Given the description of an element on the screen output the (x, y) to click on. 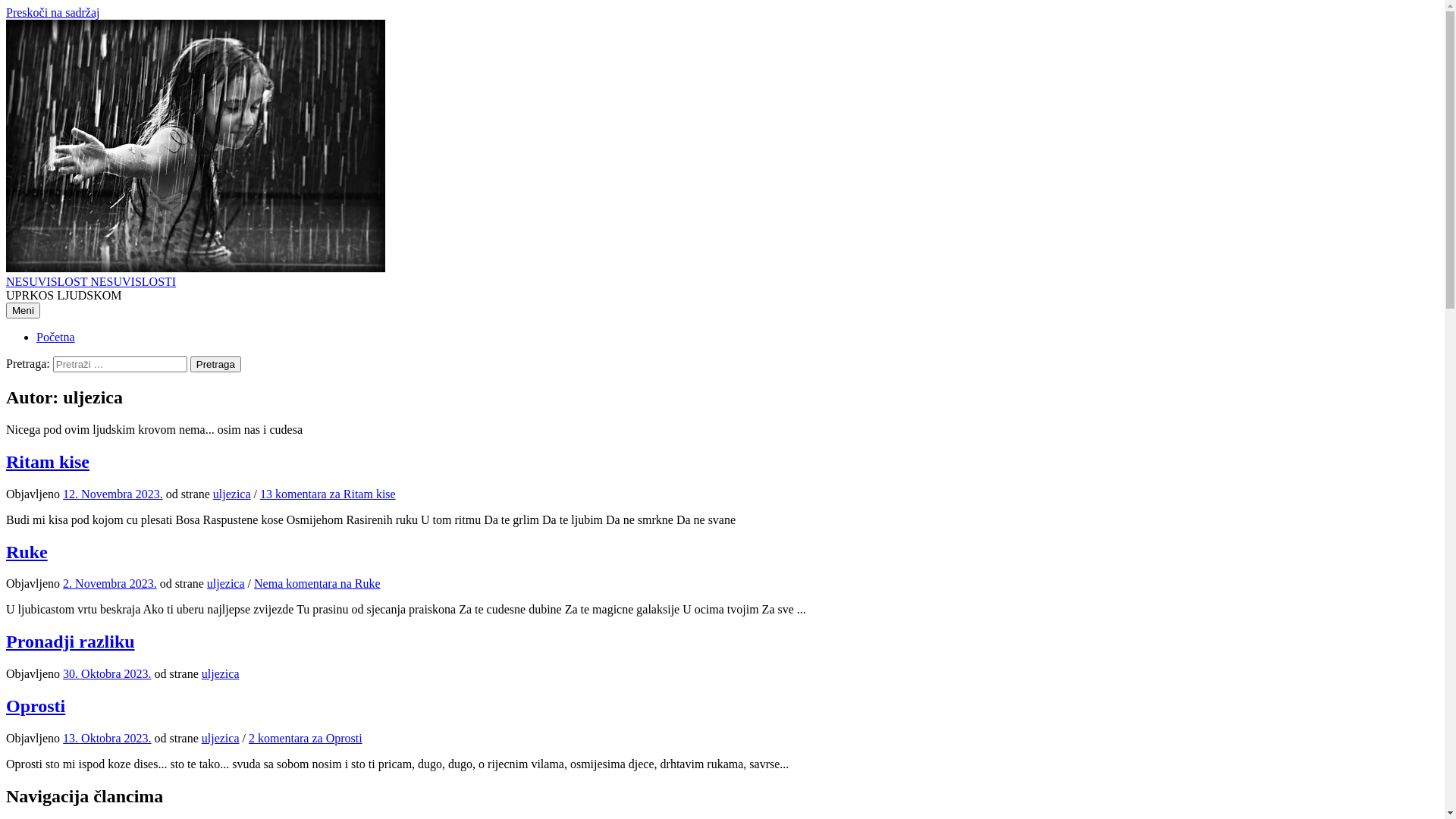
Meni Element type: text (23, 310)
2. Novembra 2023. Element type: text (109, 583)
Pretraga Element type: text (215, 364)
12. Novembra 2023. Element type: text (112, 493)
Pronadji razliku Element type: text (70, 641)
Nema komentara na Ruke Element type: text (317, 583)
uljezica Element type: text (225, 583)
uljezica Element type: text (232, 493)
13 komentara za Ritam kise Element type: text (327, 493)
13. Oktobra 2023. Element type: text (106, 737)
Ritam kise Element type: text (47, 461)
uljezica Element type: text (220, 673)
Oprosti Element type: text (35, 705)
NESUVISLOST NESUVISLOSTI Element type: text (90, 281)
uljezica Element type: text (220, 737)
2 komentara za Oprosti Element type: text (305, 737)
30. Oktobra 2023. Element type: text (106, 673)
Ruke Element type: text (26, 551)
